Given the description of an element on the screen output the (x, y) to click on. 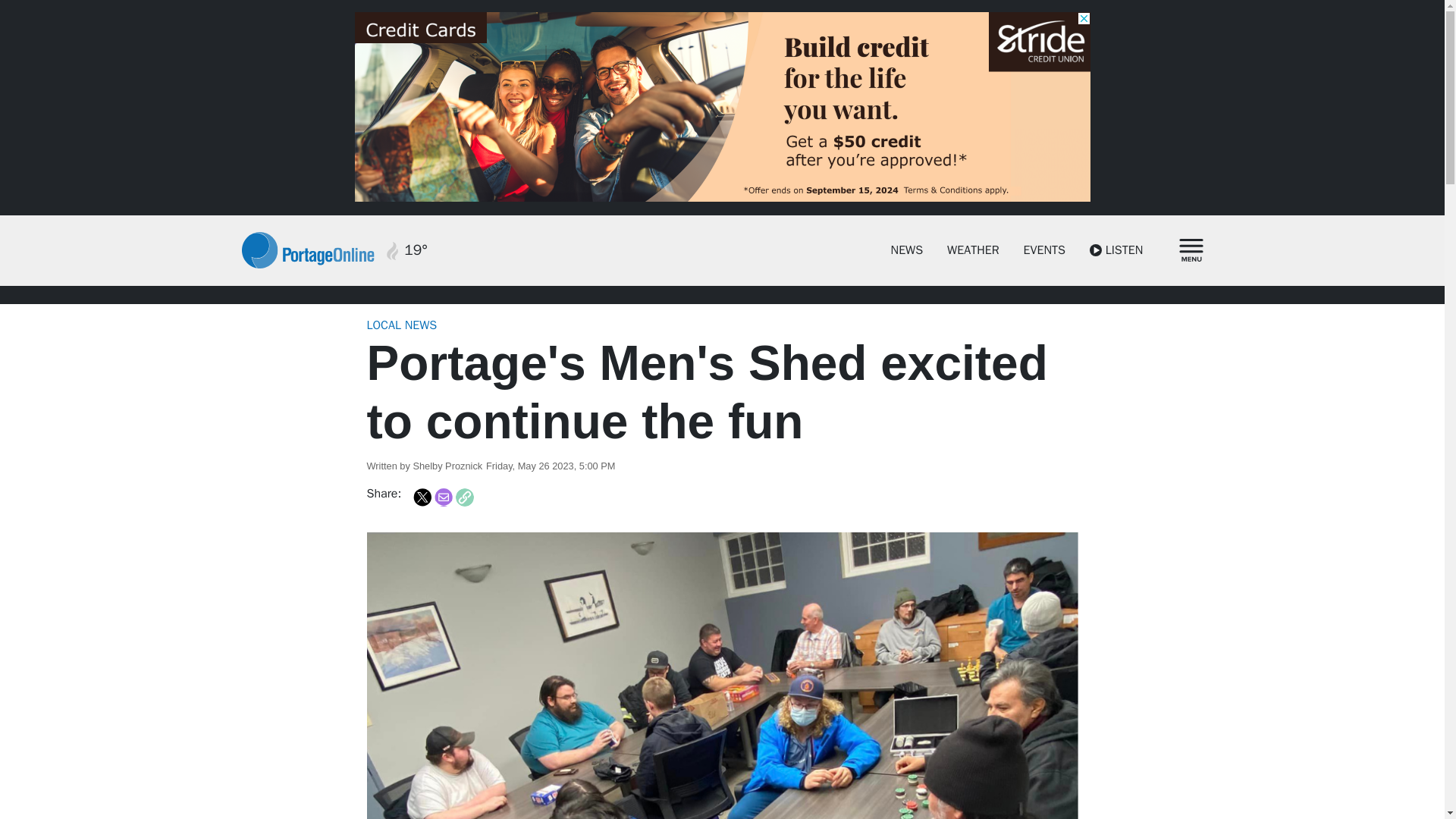
Share to Email (442, 497)
Copy Link (464, 497)
